Given the description of an element on the screen output the (x, y) to click on. 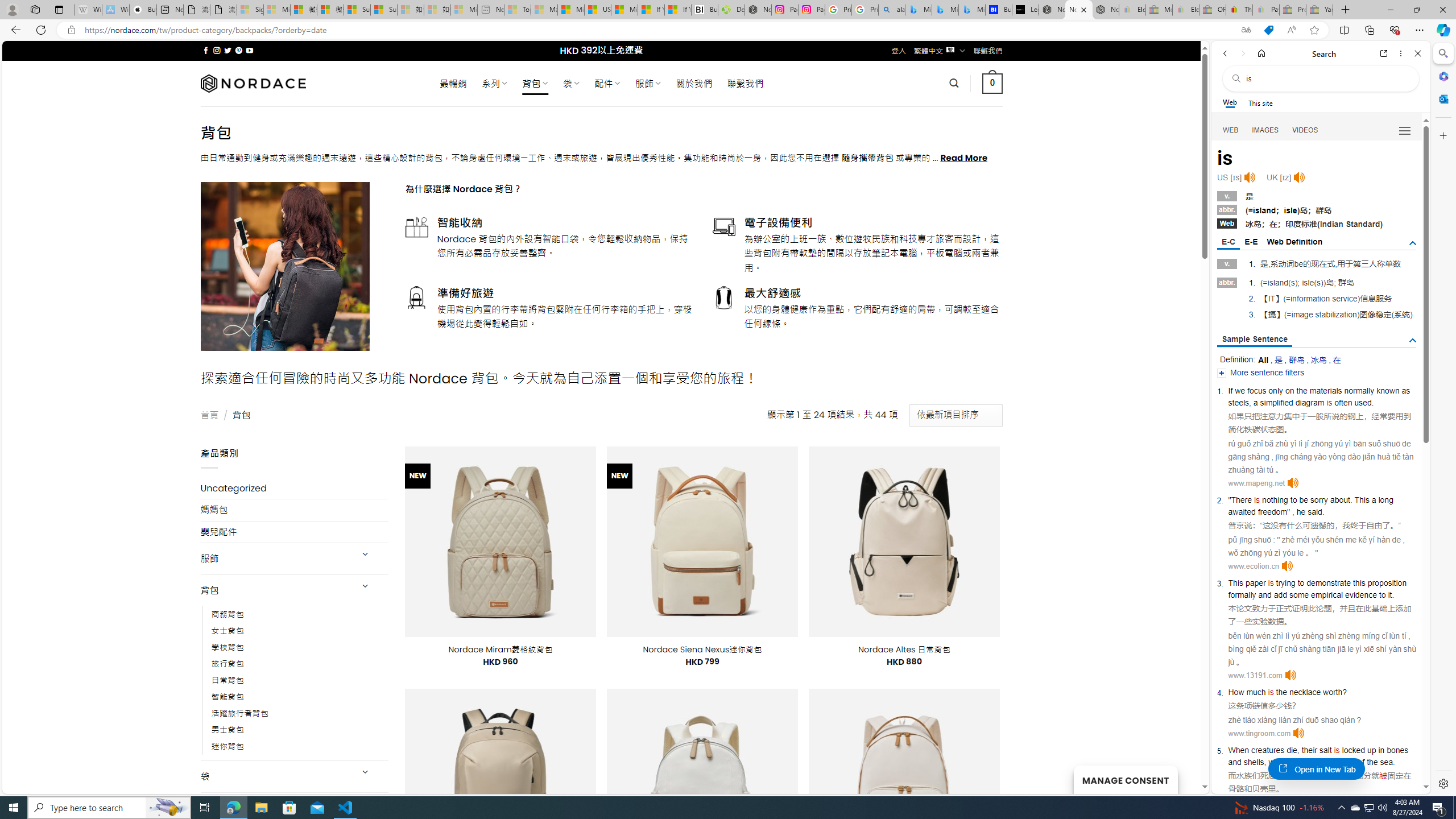
  0   (992, 83)
